Given the description of an element on the screen output the (x, y) to click on. 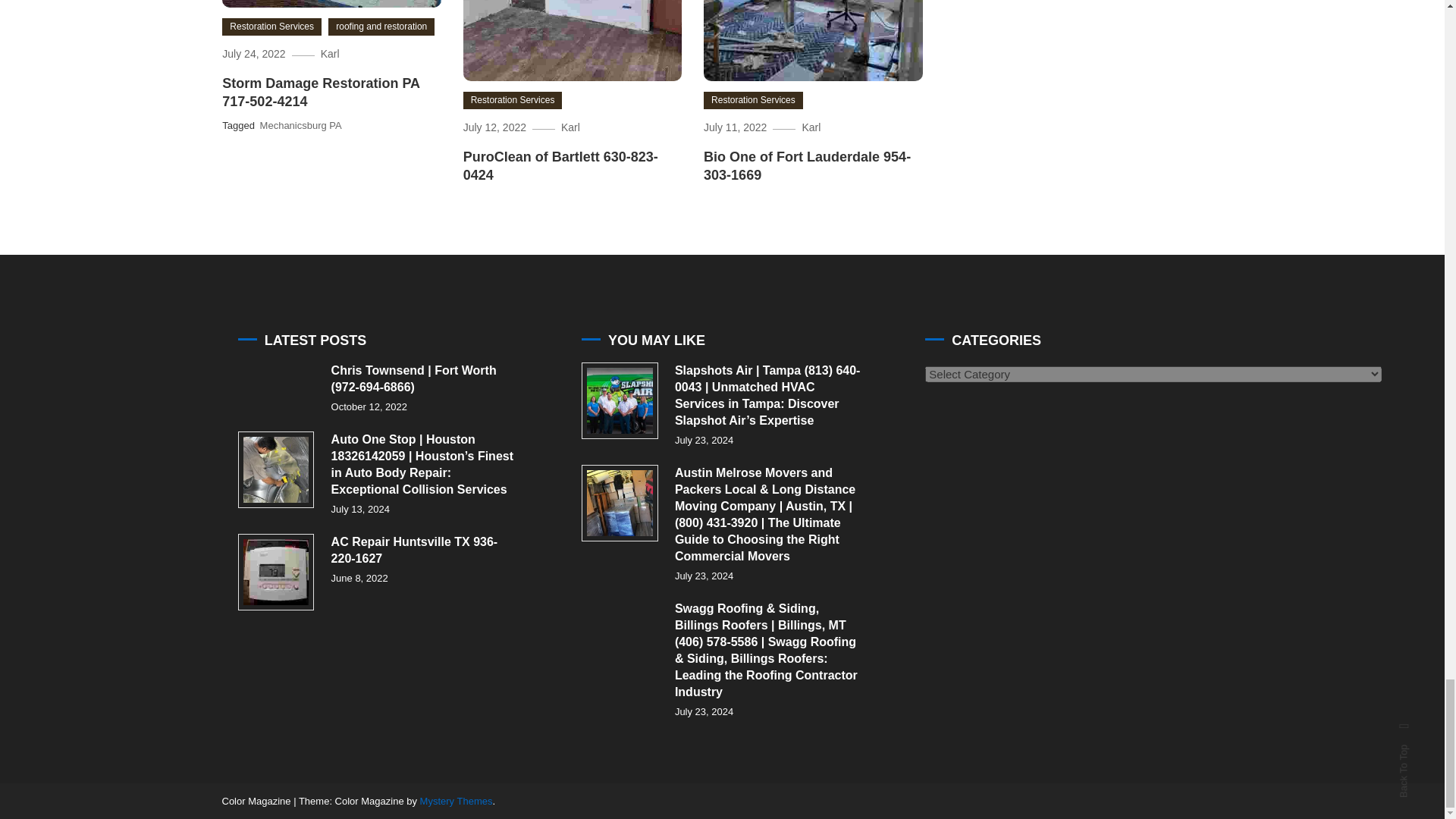
AC Repair Huntsville TX 936-220-1627 (276, 571)
